Given the description of an element on the screen output the (x, y) to click on. 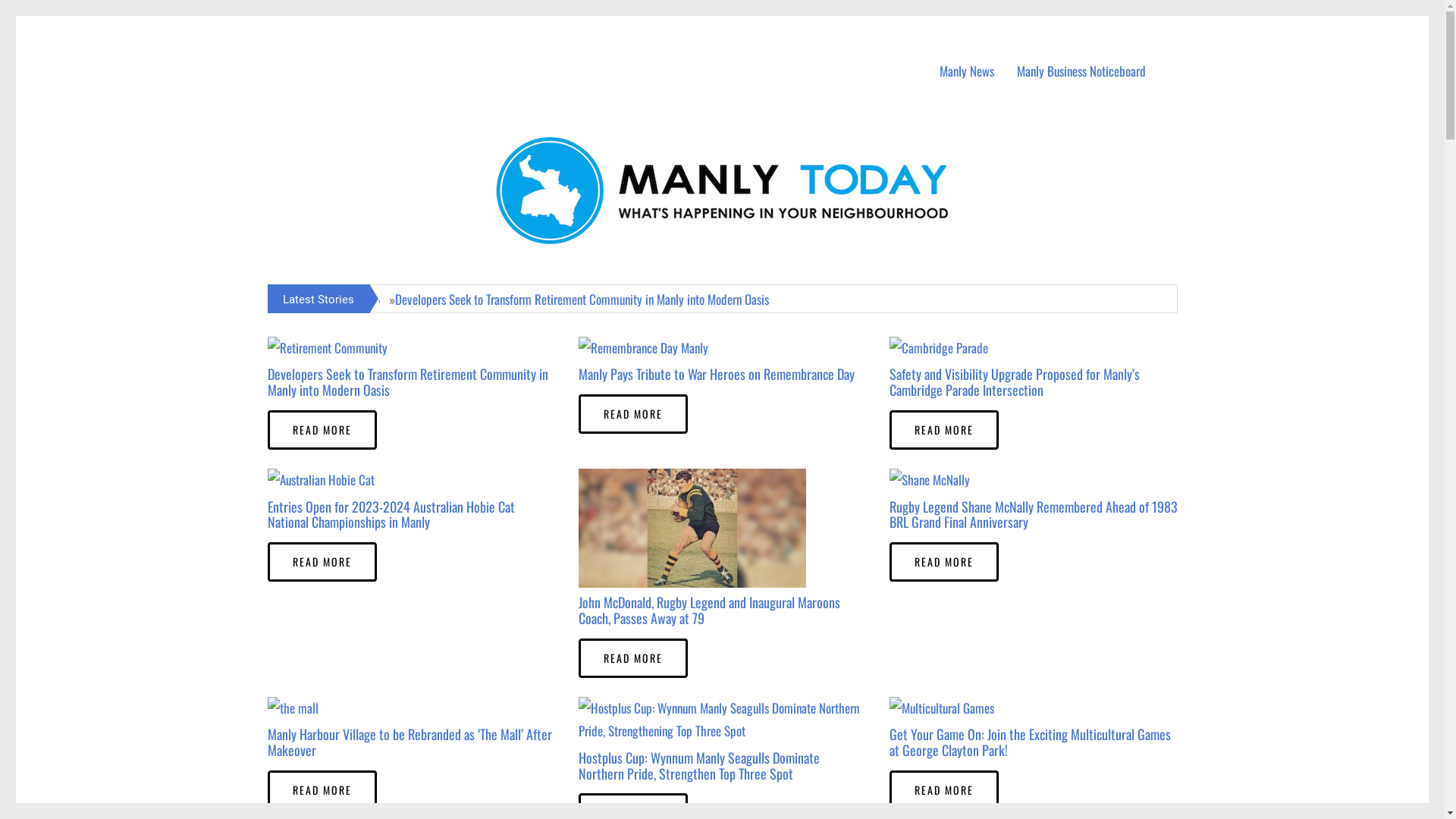
READ MORE Element type: text (632, 657)
READ MORE Element type: text (632, 413)
Manly News Element type: text (966, 71)
READ MORE Element type: text (321, 789)
READ MORE Element type: text (321, 561)
Manly Business Noticeboard Element type: text (1081, 71)
READ MORE Element type: text (321, 429)
Manly Today Element type: text (343, 44)
Manly Pays Tribute to War Heroes on Remembrance Day Element type: text (715, 373)
READ MORE Element type: text (942, 429)
READ MORE Element type: text (942, 789)
READ MORE Element type: text (942, 561)
